Given the description of an element on the screen output the (x, y) to click on. 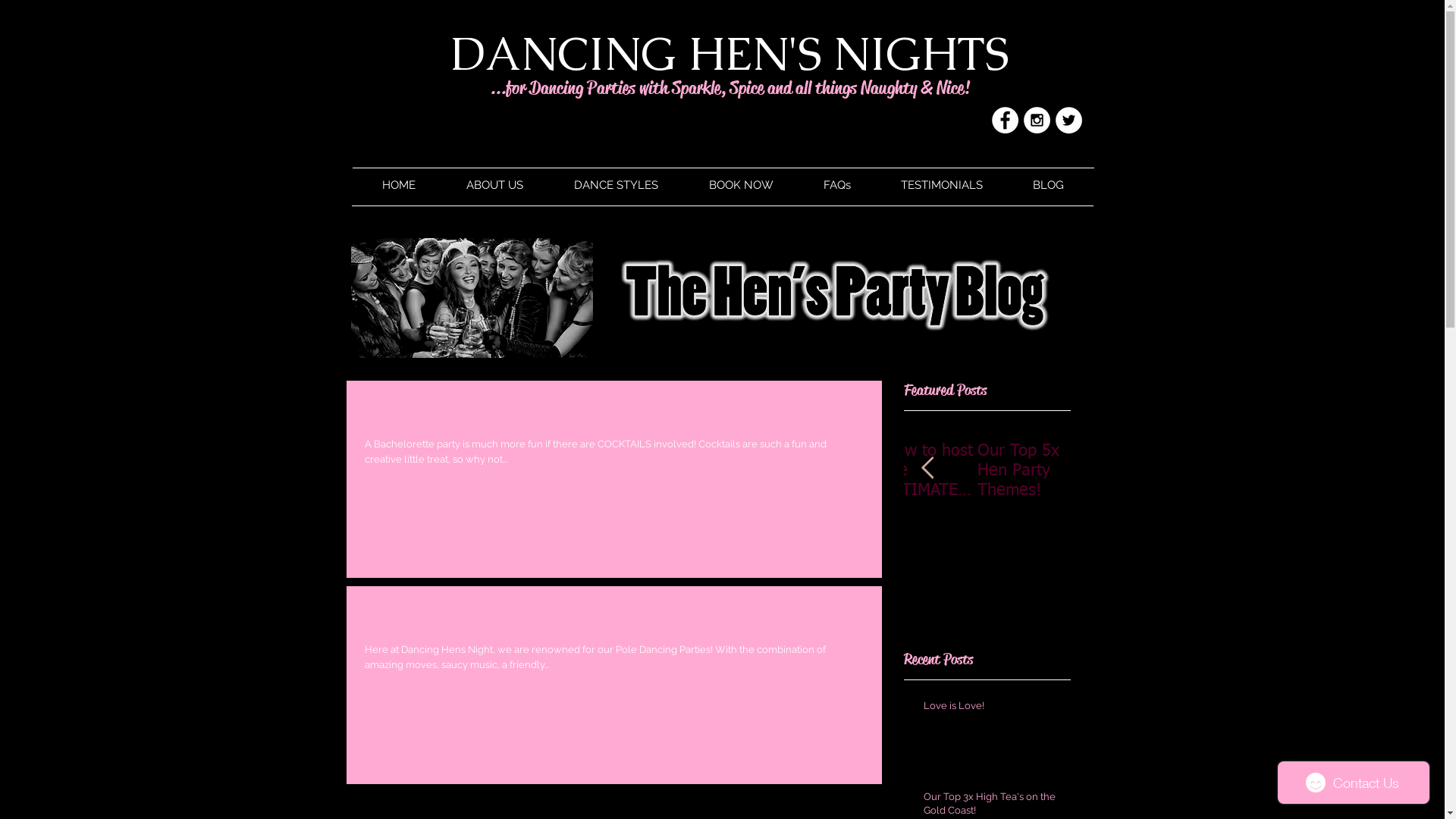
BOOK NOW Element type: text (741, 185)
ABOUT US Element type: text (495, 185)
TESTIMONIALS Element type: text (941, 185)
Love is Love! Element type: text (992, 708)
DANCE STYLES Element type: text (616, 185)
Our Top 5x Hen Party Themes! Element type: text (1023, 470)
Pole Dancing Hens Party Element type: text (613, 623)
FAQs Element type: text (836, 185)
Our Top 3 Cocktails for your Hen's Party! Element type: text (613, 417)
BLOG Element type: text (1047, 185)
Hen's-party-blog-banner.jpg Element type: hover (721, 297)
HOME Element type: text (398, 185)
How to host the ULTIMATE Hen's Party! Element type: text (930, 470)
